Given the description of an element on the screen output the (x, y) to click on. 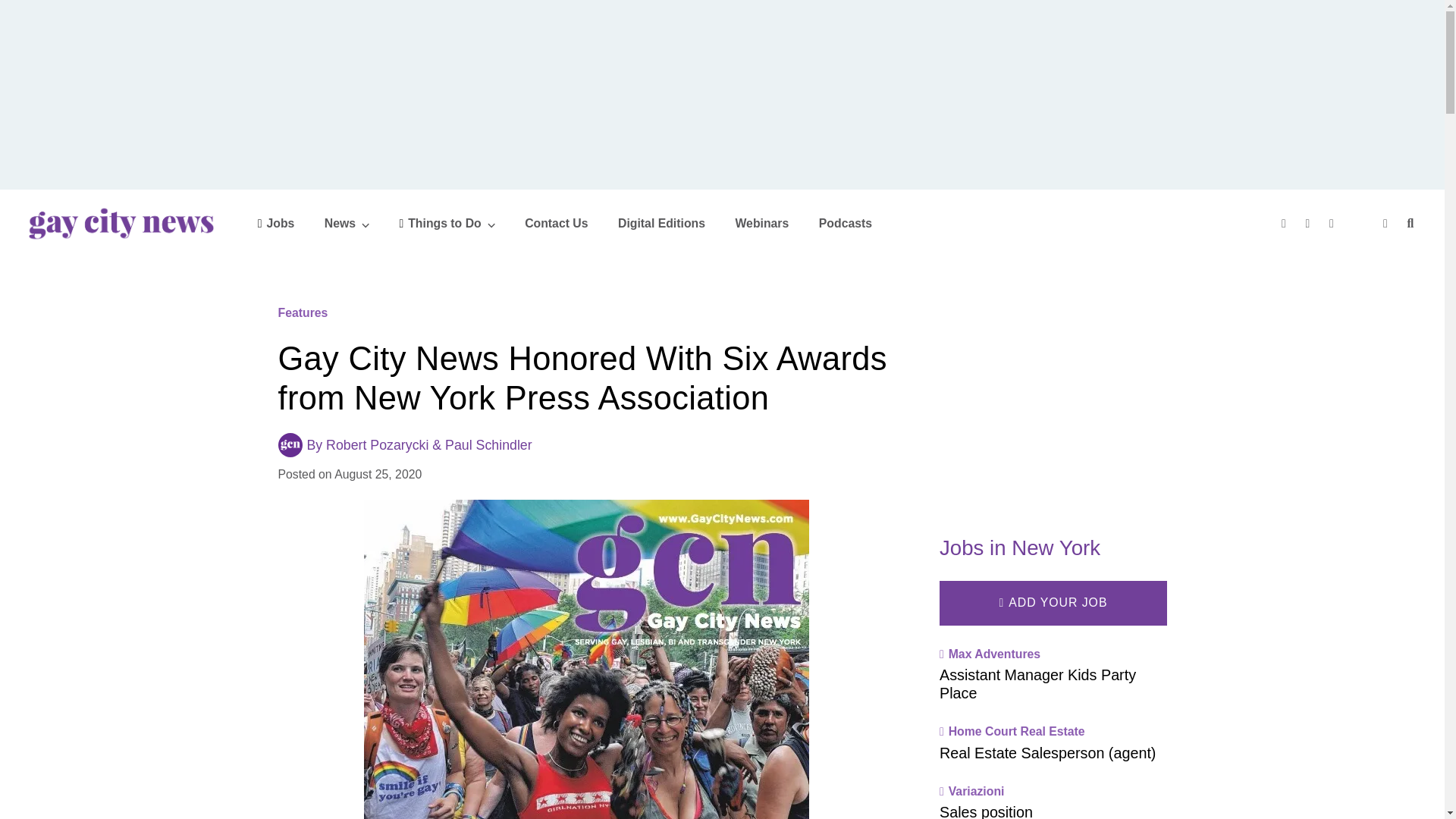
Things to Do (446, 223)
Digital Editions (660, 223)
Jobs (276, 223)
Posts by Robert Pozarycki (377, 444)
Webinars (762, 223)
Podcasts (845, 223)
Contact Us (556, 223)
News (346, 223)
Posts by Paul Schindler (488, 444)
